Given the description of an element on the screen output the (x, y) to click on. 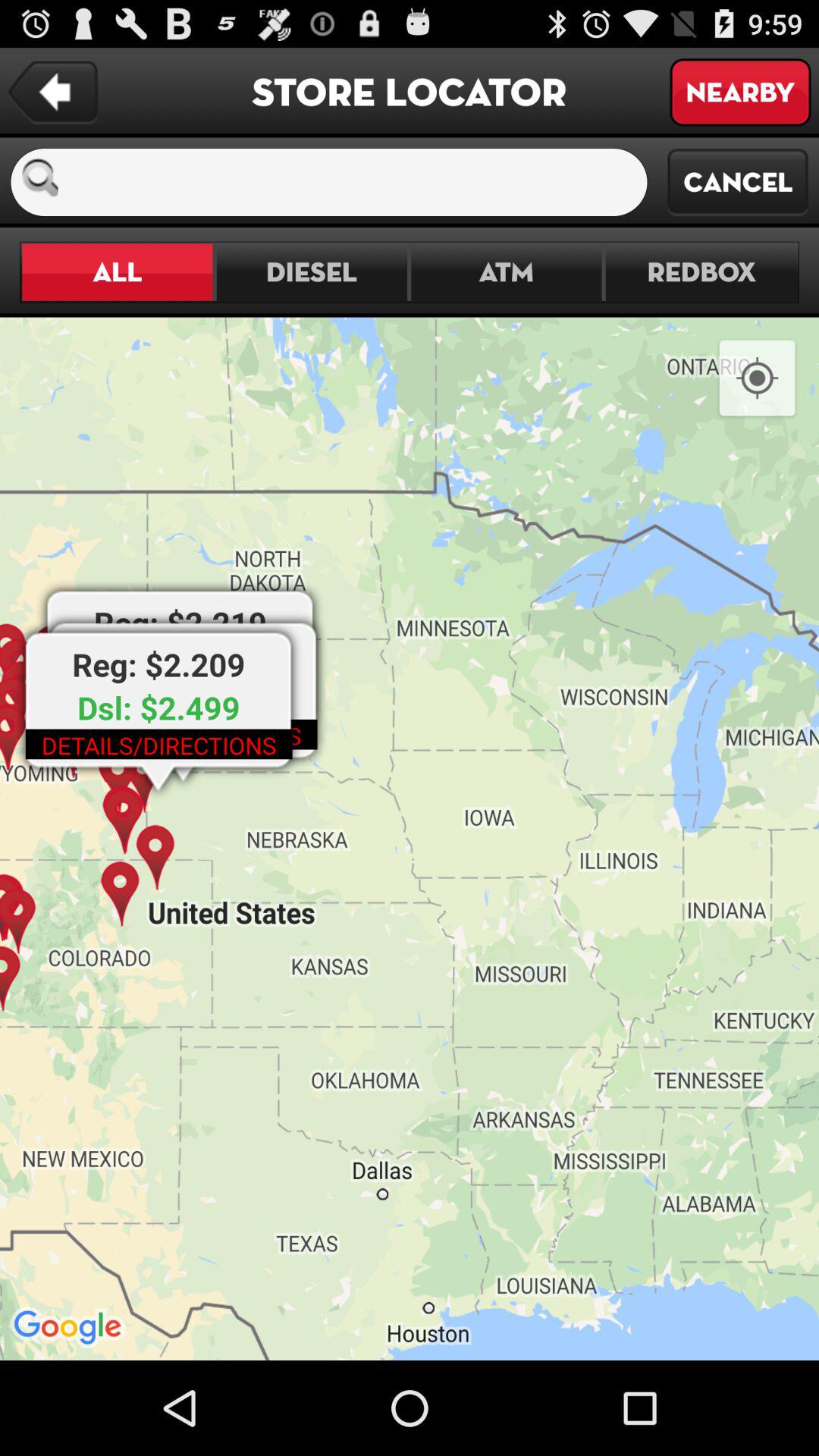
tap icon to the left of store locator icon (52, 92)
